Given the description of an element on the screen output the (x, y) to click on. 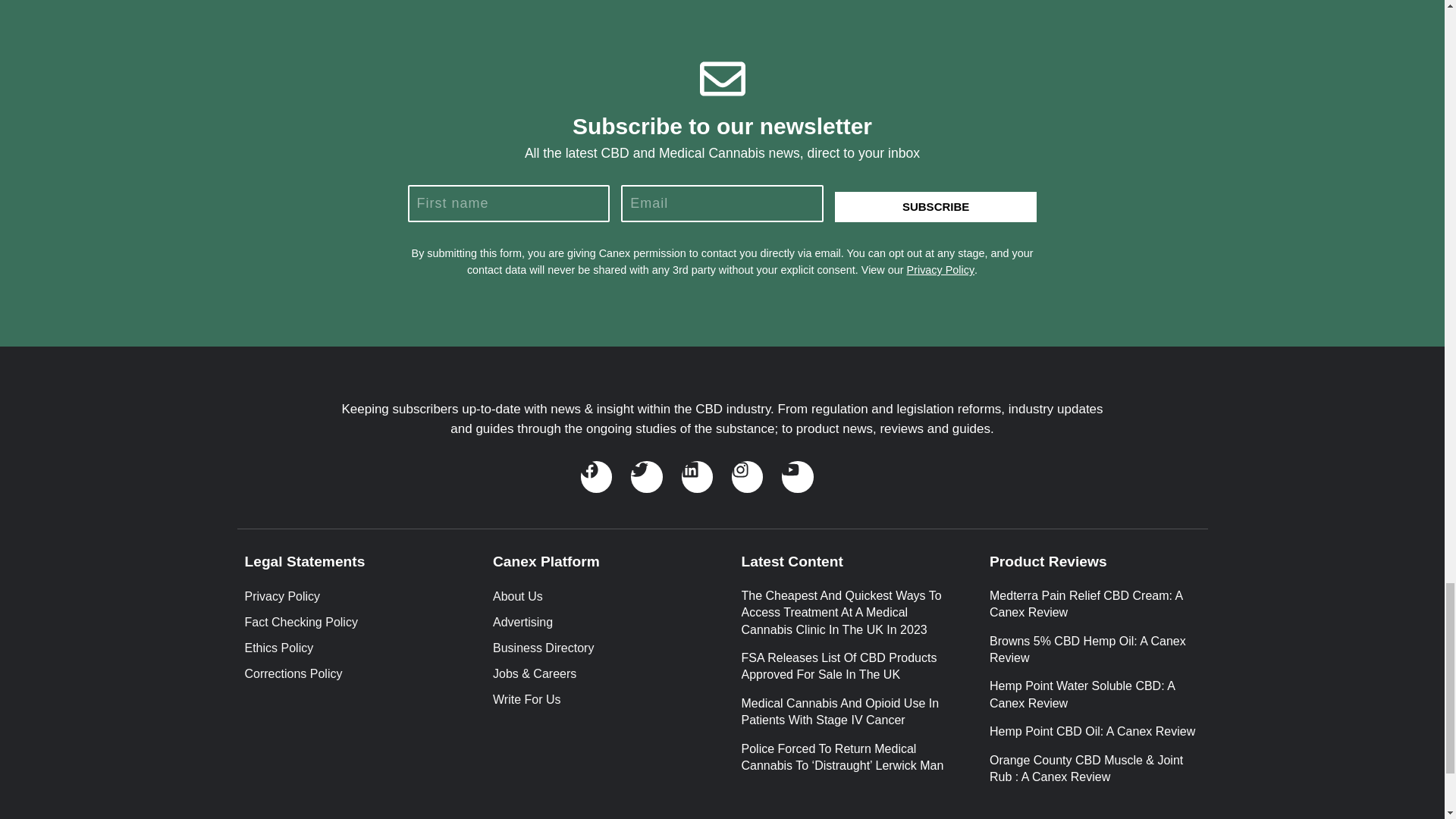
SUBSCRIBE (935, 206)
Privacy Policy (941, 269)
Write For Us (598, 700)
Corrections Policy (349, 674)
Advertising (598, 622)
Business Directory (598, 648)
Medterra Pain Relief CBD Cream: A Canex Review (1086, 603)
About Us (598, 597)
Fact Checking Policy (349, 622)
